Given the description of an element on the screen output the (x, y) to click on. 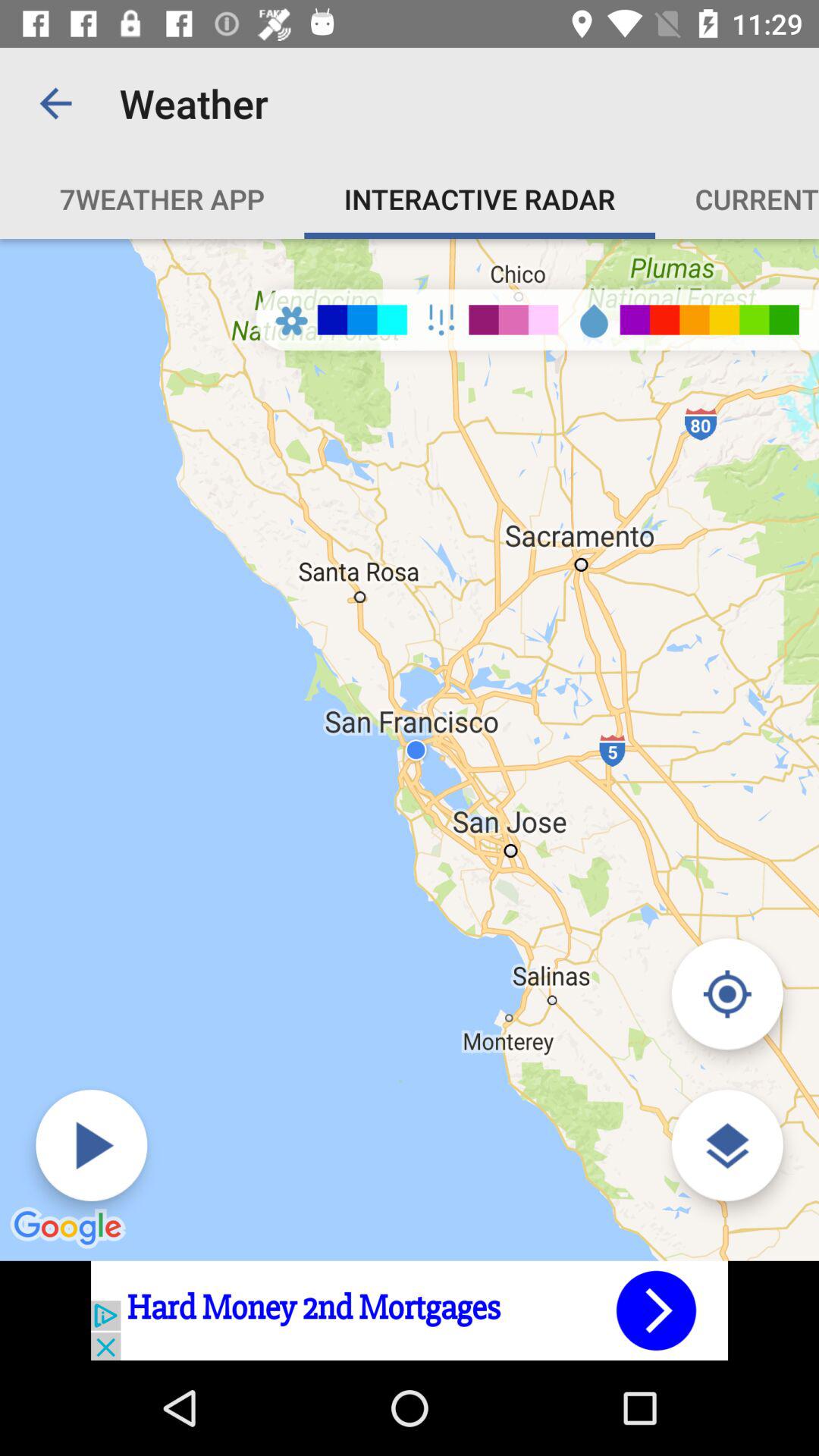
zoom in (727, 1145)
